Given the description of an element on the screen output the (x, y) to click on. 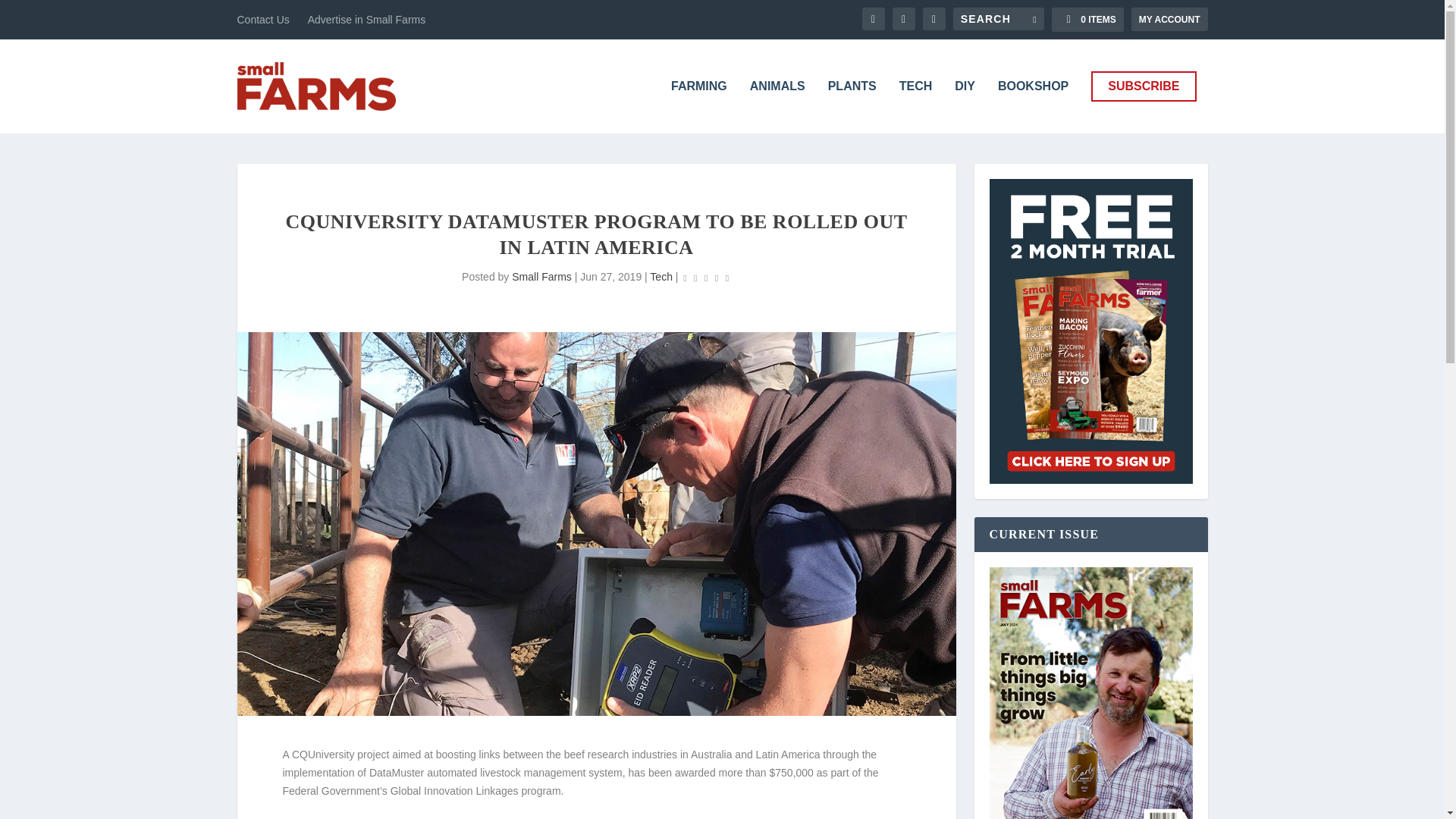
SUBSCRIBE (1142, 86)
Contact Us (261, 19)
Advertise in Small Farms (366, 19)
PLANTS (852, 106)
0 ITEMS (1087, 19)
0 Items in Cart (1087, 19)
Search for: (998, 18)
MY ACCOUNT (1169, 19)
BOOKSHOP (1032, 106)
Posts by Small Farms (542, 276)
ANIMALS (777, 106)
FARMING (698, 106)
Tech (660, 276)
Small Farms (542, 276)
Rating: 0.00 (705, 277)
